Given the description of an element on the screen output the (x, y) to click on. 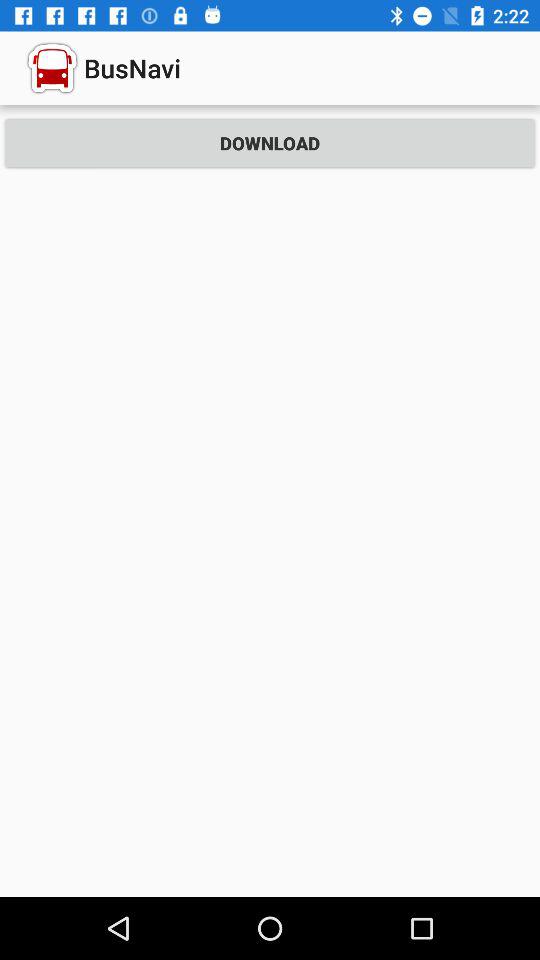
turn off the icon at the center (270, 535)
